Given the description of an element on the screen output the (x, y) to click on. 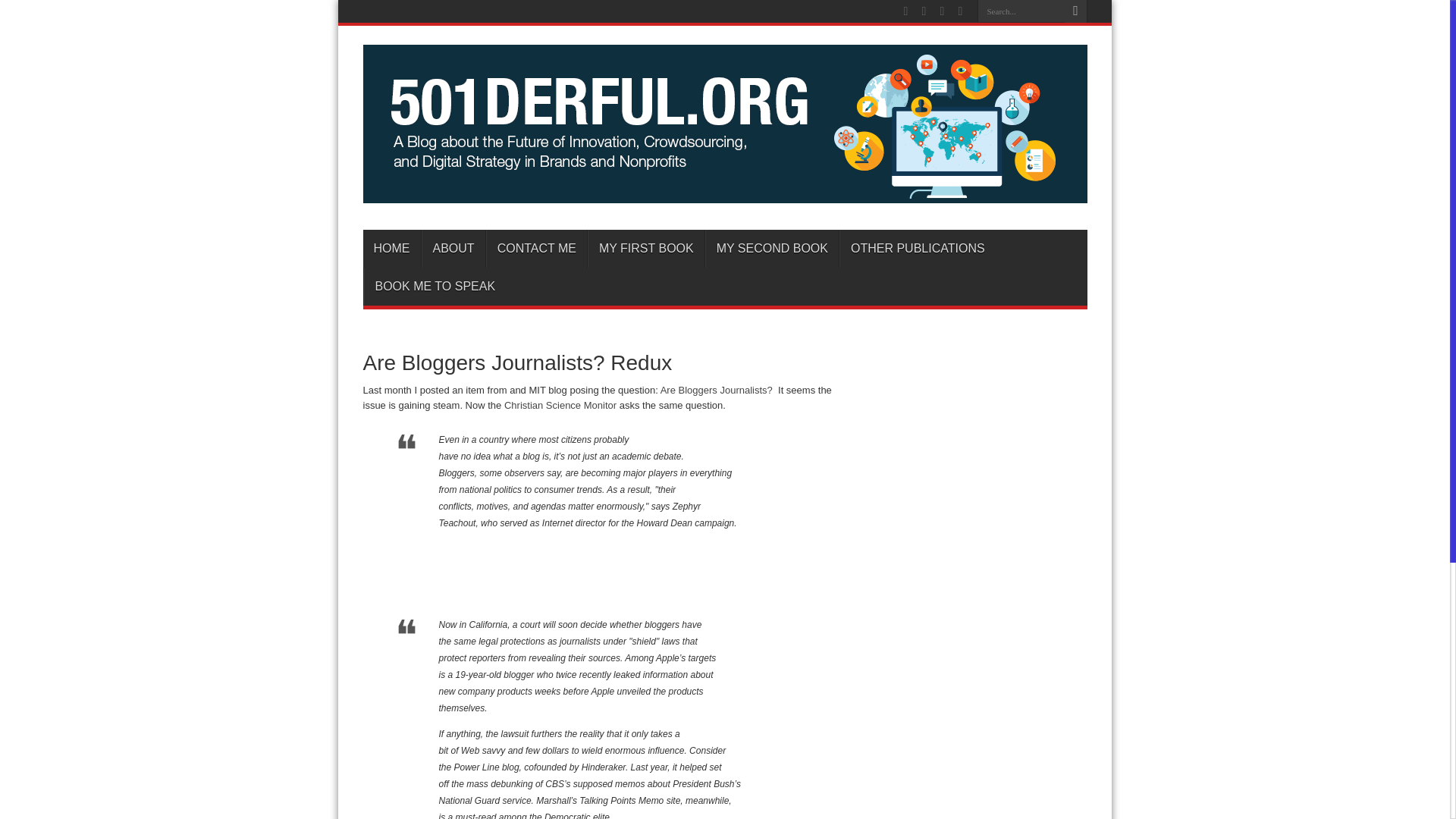
Search (1075, 11)
501derful.org (724, 191)
Search... (1020, 11)
